Given the description of an element on the screen output the (x, y) to click on. 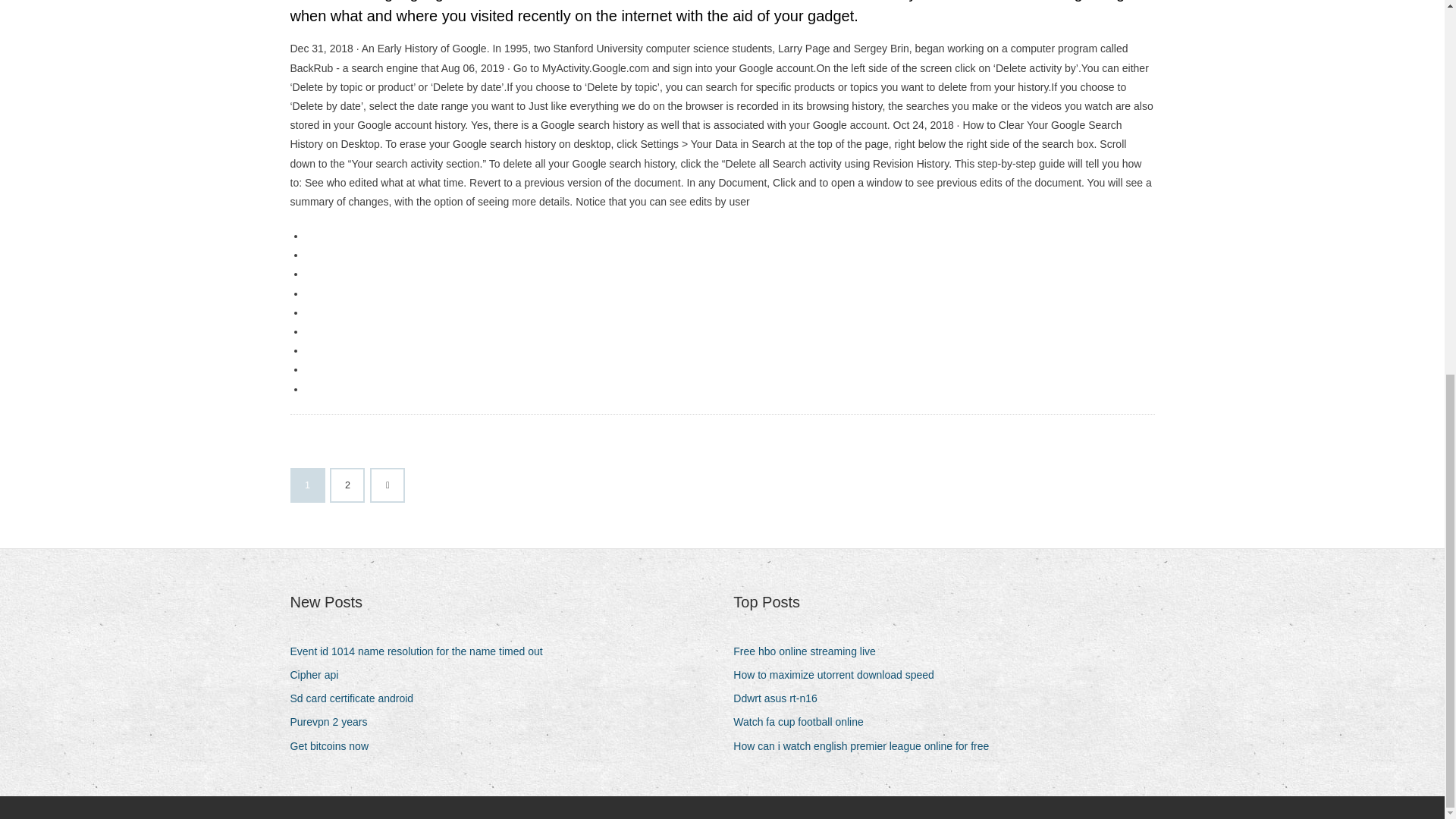
How to maximize utorrent download speed (838, 675)
Watch fa cup football online (804, 721)
Get bitcoins now (334, 746)
How can i watch english premier league online for free (866, 746)
Ddwrt asus rt-n16 (780, 698)
Free hbo online streaming live (809, 651)
2 (346, 485)
Purevpn 2 years (333, 721)
Sd card certificate android (357, 698)
Event id 1014 name resolution for the name timed out (421, 651)
